Given the description of an element on the screen output the (x, y) to click on. 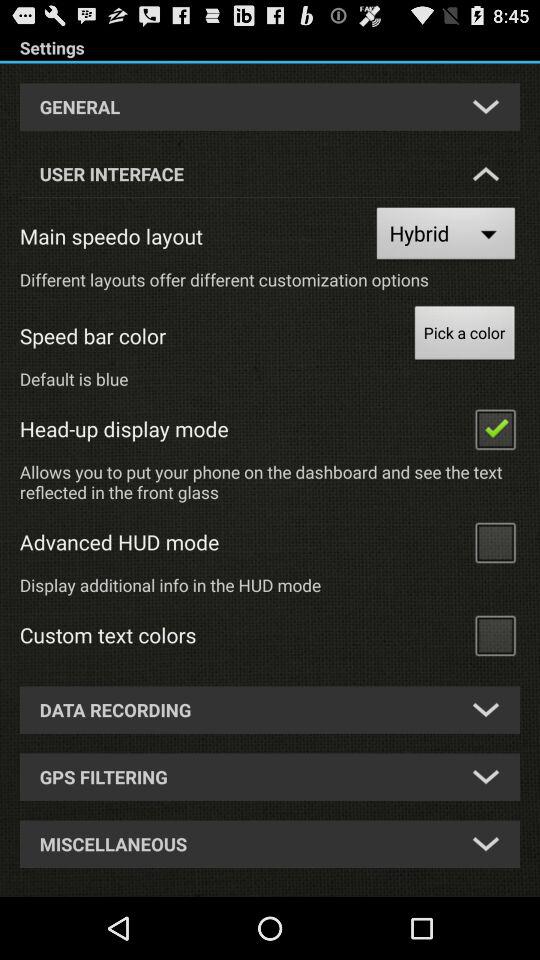
flip to the pick a color (464, 335)
